Given the description of an element on the screen output the (x, y) to click on. 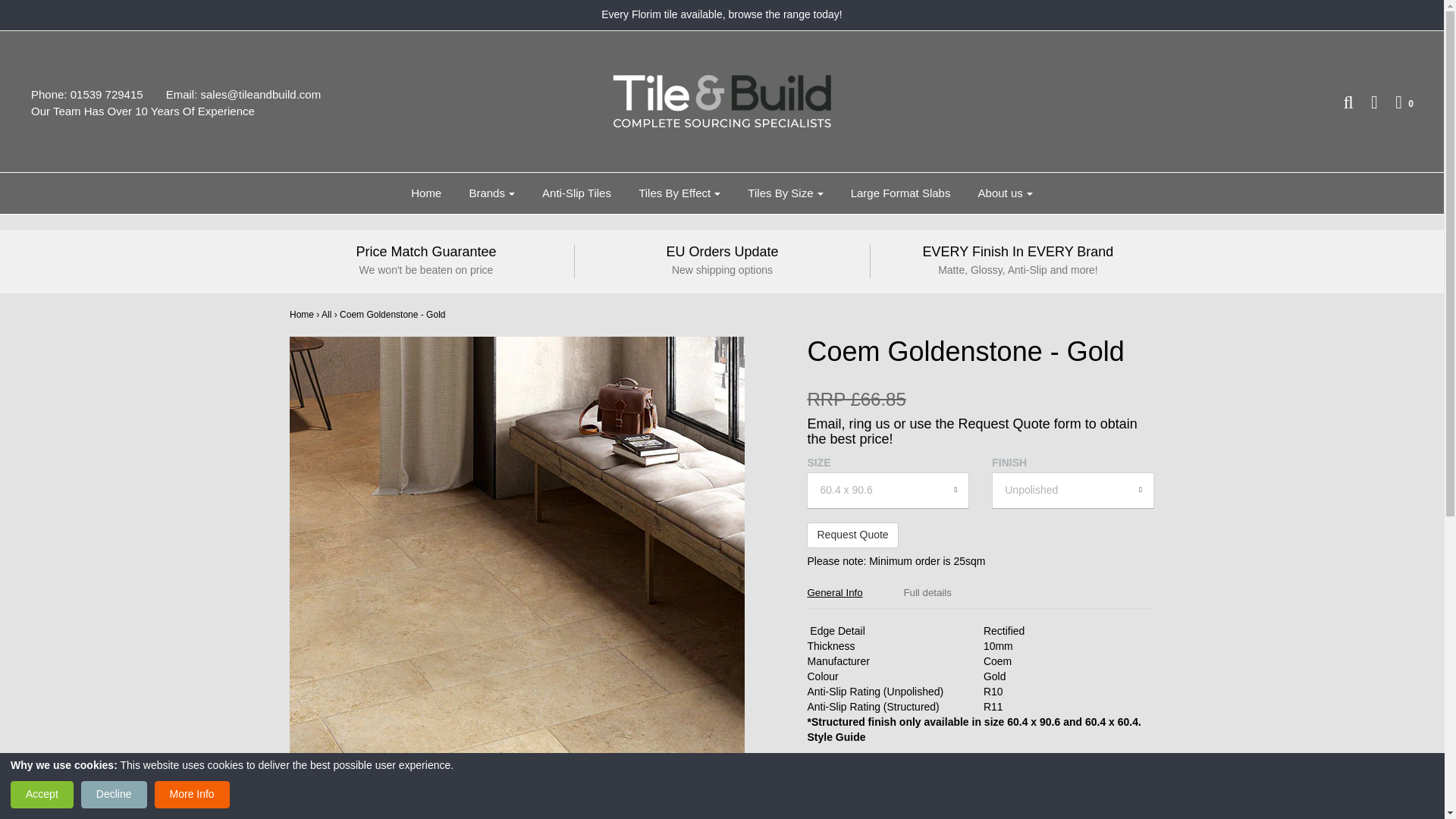
Home (425, 193)
Search (1339, 102)
Our Team Has Over 10 Years Of Experience (154, 111)
Tiles By Size (785, 193)
Brands (491, 193)
Phone: 01539 729415 (97, 94)
Log in (1366, 102)
0 (1396, 102)
60.4 x 90.6 (887, 490)
Anti-Slip Tiles (577, 193)
Tiles By Effect (679, 193)
Unpolished (1072, 490)
Your Cart (1396, 102)
